Given the description of an element on the screen output the (x, y) to click on. 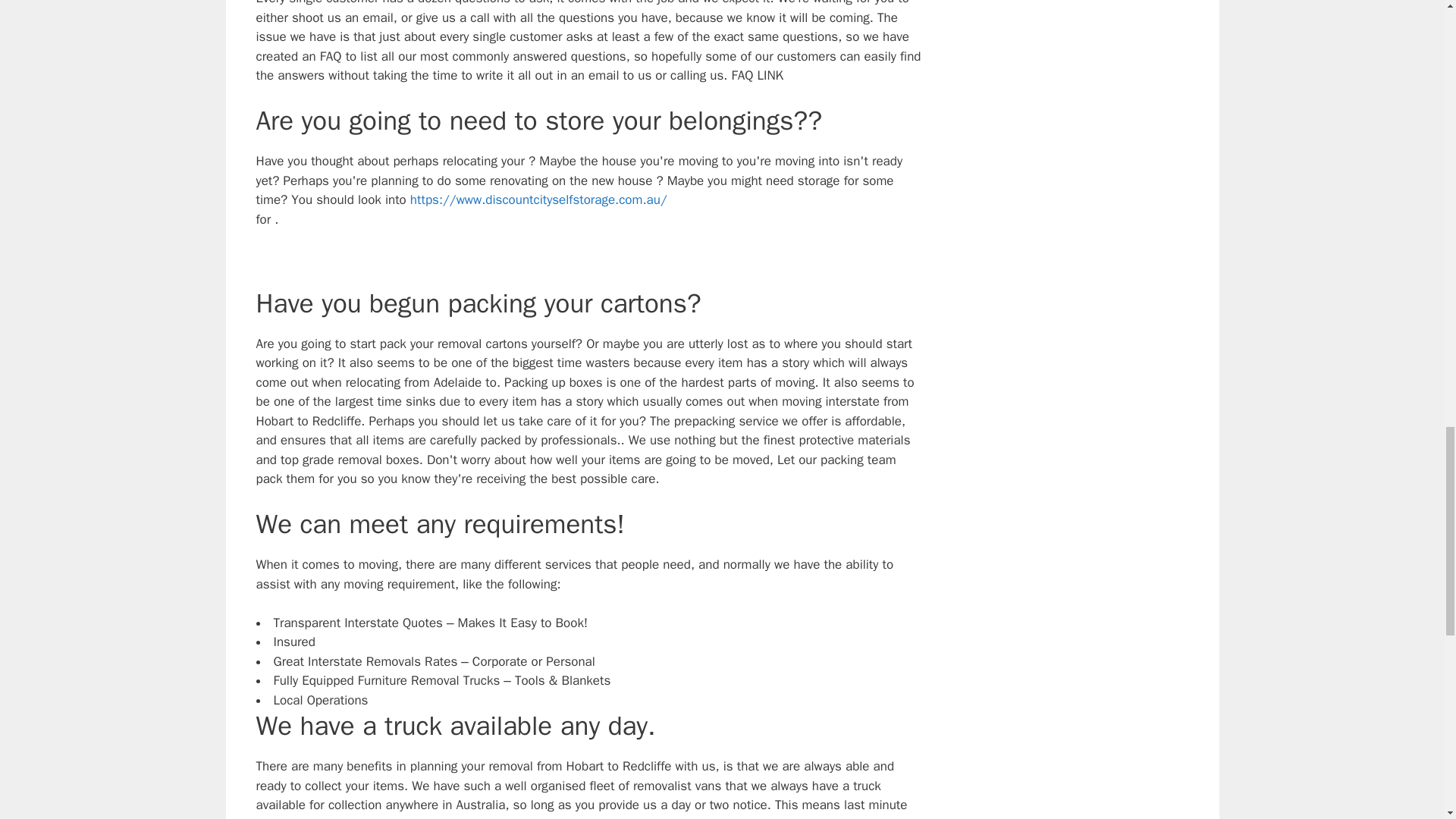
Self Storage (538, 199)
